Given the description of an element on the screen output the (x, y) to click on. 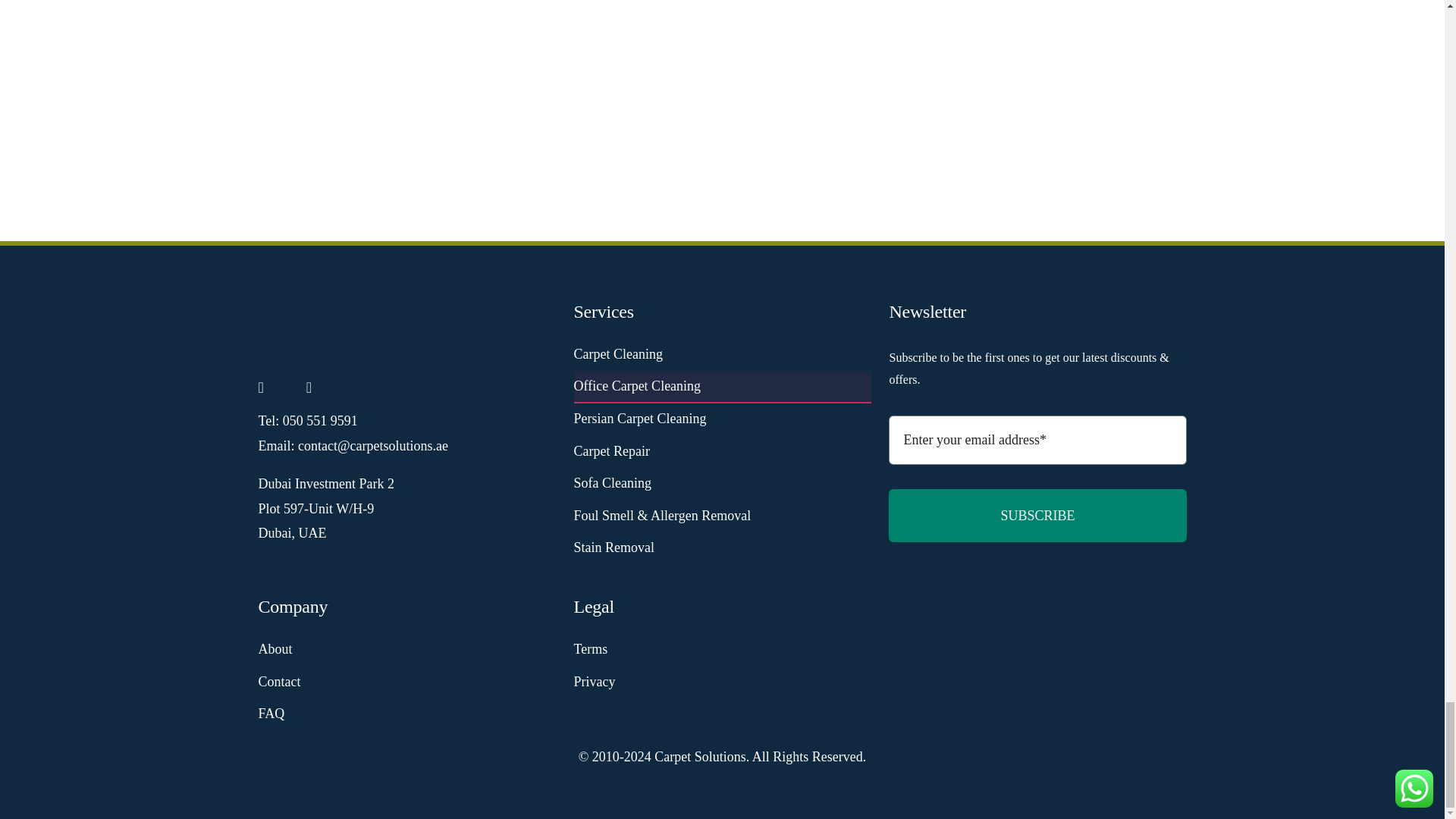
Logo (293, 328)
